Given the description of an element on the screen output the (x, y) to click on. 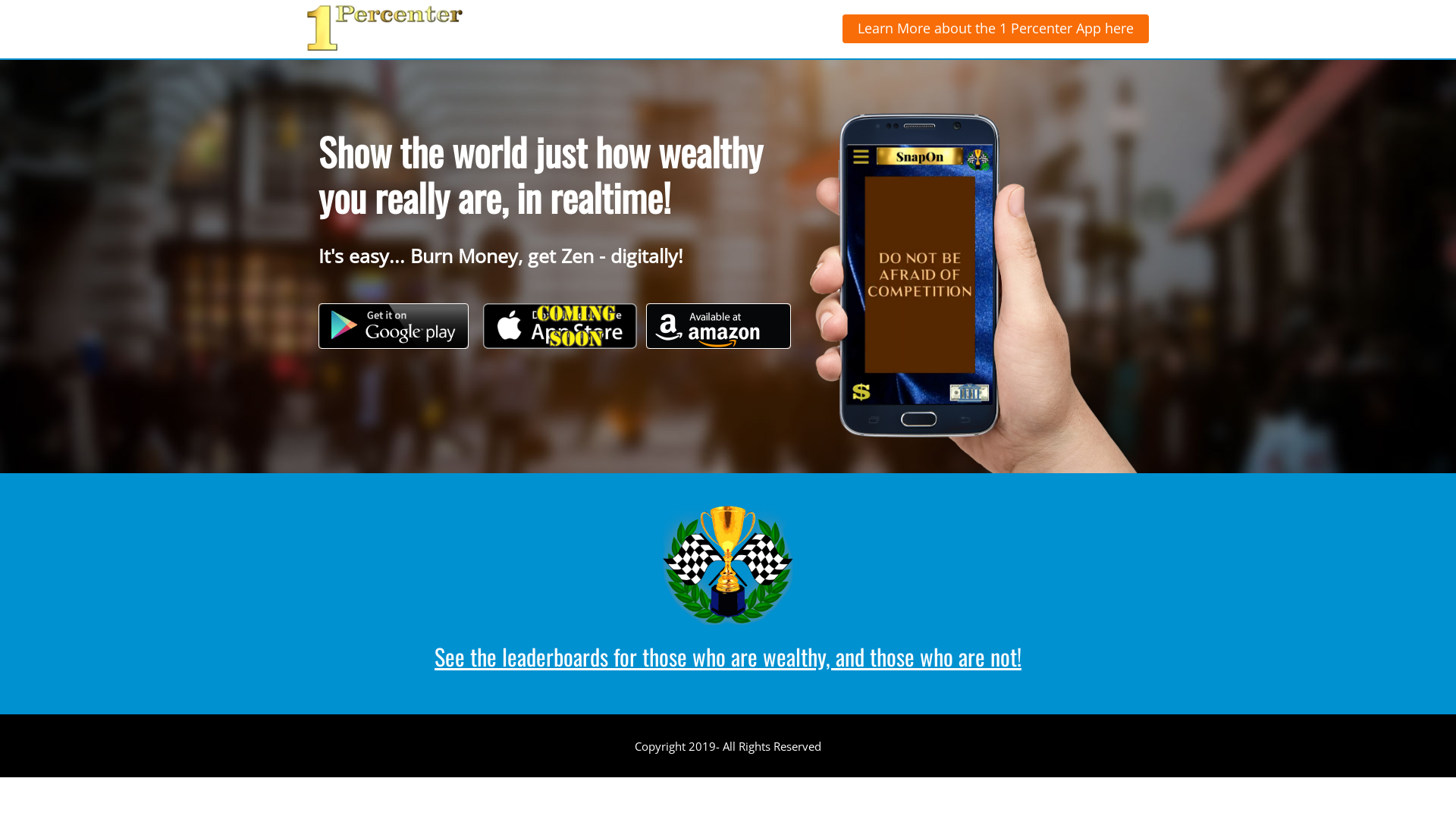
Learn More about the 1 Percenter App here Element type: text (995, 28)
Learn More about the 1 Percenter App here Element type: text (995, 28)
